Given the description of an element on the screen output the (x, y) to click on. 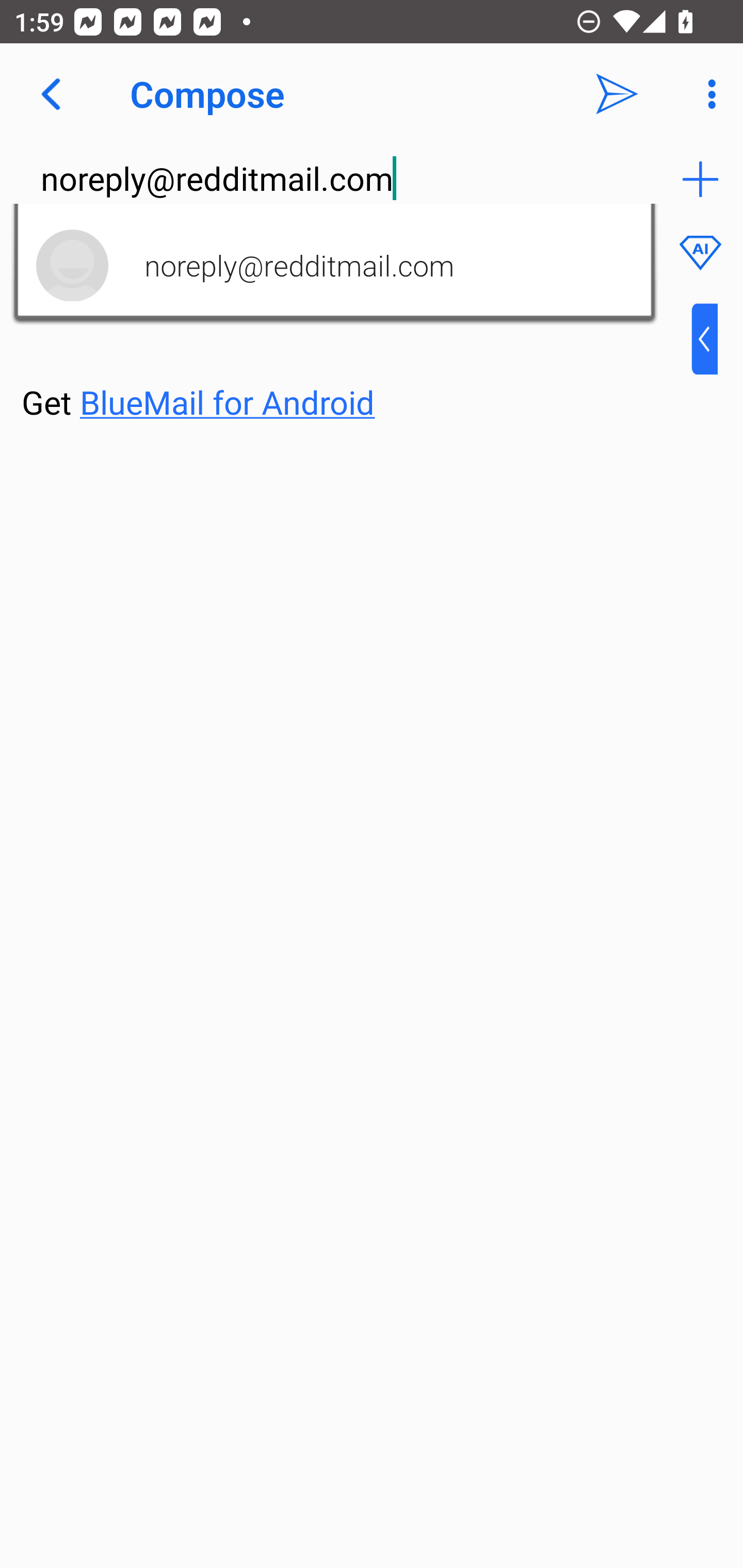
Navigate up (50, 93)
Send (616, 93)
More Options (706, 93)
 noreply@redditmail.com (334, 179)
Add recipient (To) (699, 179)
Subject (302, 249)


⁣Get BlueMail for Android ​ (355, 363)
